Given the description of an element on the screen output the (x, y) to click on. 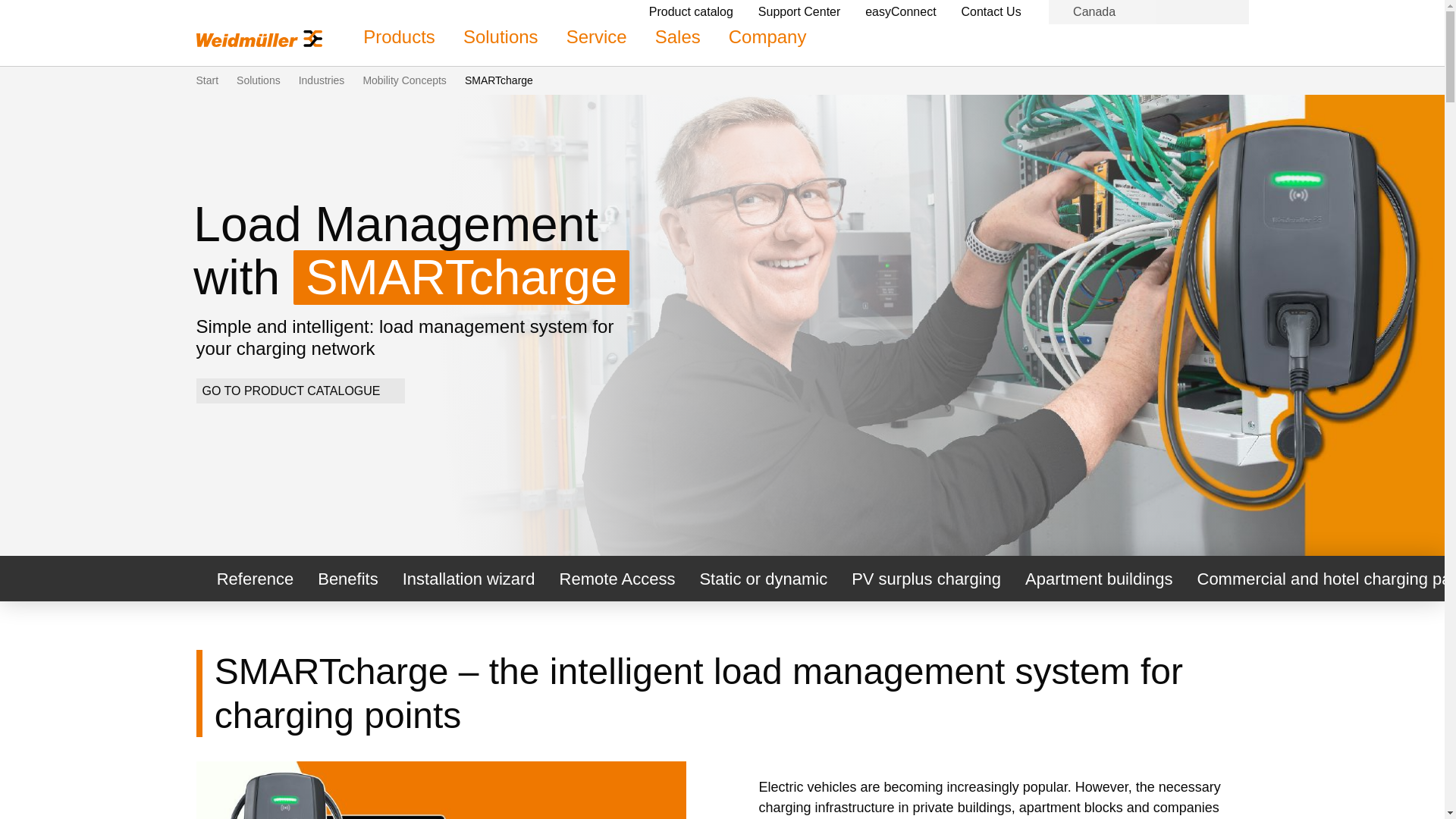
null (440, 790)
Benefits (347, 578)
Product catalog (699, 11)
Static or dynamic (762, 578)
Remote Access (617, 578)
PV surplus charging (926, 578)
Installation wizard (468, 578)
easyConnect (908, 11)
Contact Us (998, 11)
Reference (247, 578)
